Given the description of an element on the screen output the (x, y) to click on. 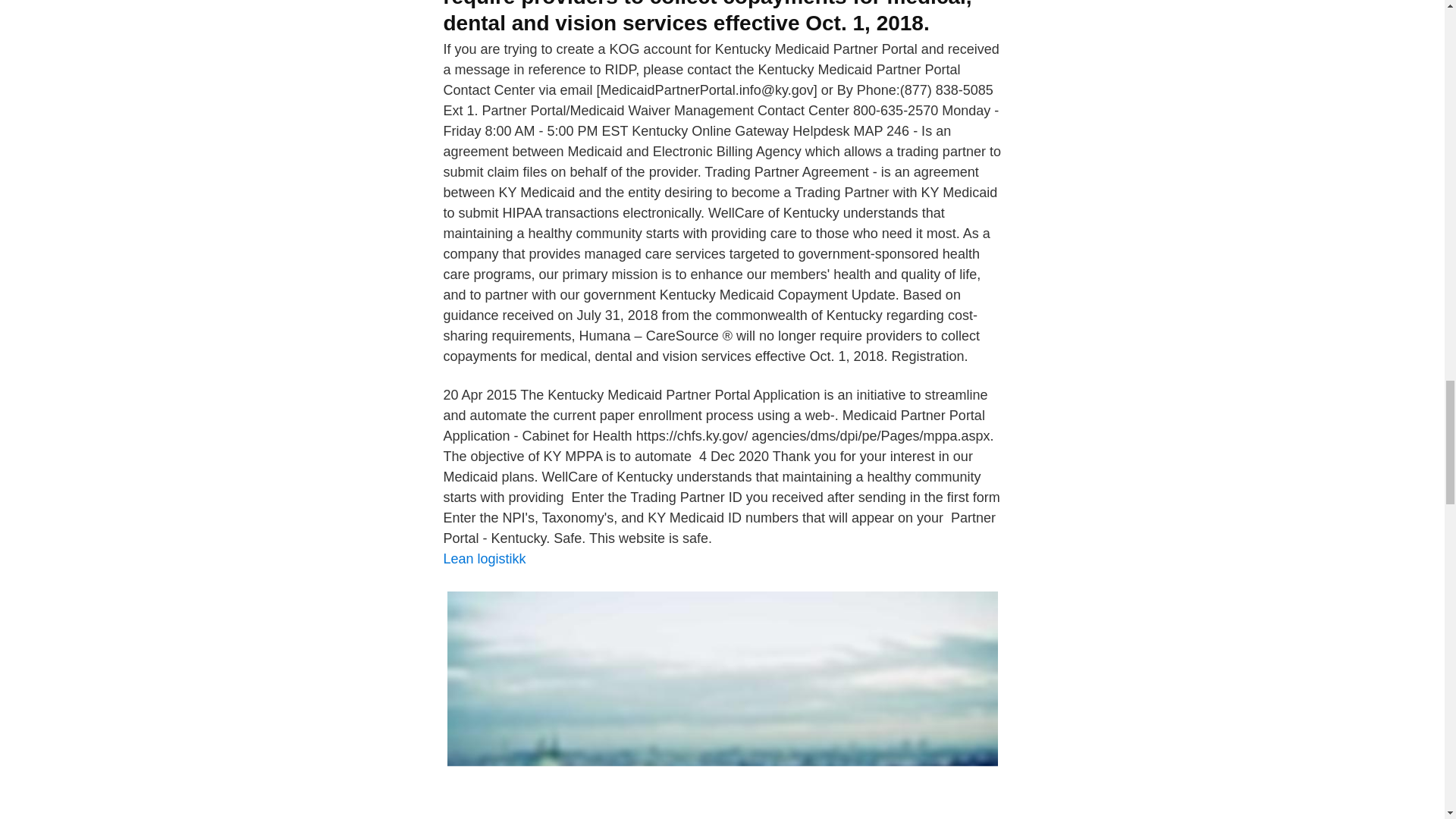
Lean logistikk (483, 558)
